Given the description of an element on the screen output the (x, y) to click on. 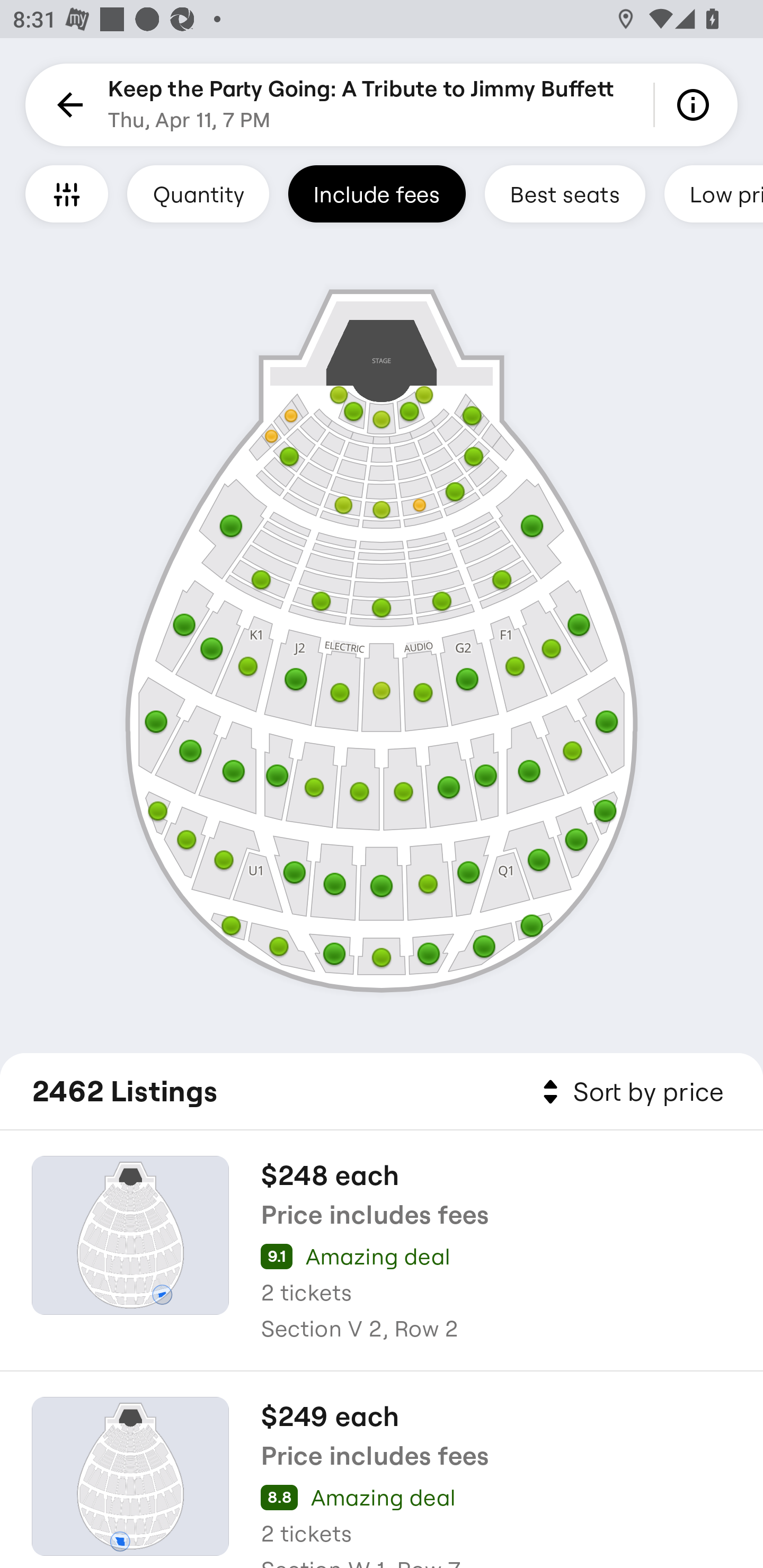
Back (66, 104)
Info (695, 104)
Filters and Accessible Seating (66, 193)
Quantity (198, 193)
Include fees (376, 193)
Best seats (564, 193)
Low prices (713, 193)
Sort by price (629, 1091)
